Given the description of an element on the screen output the (x, y) to click on. 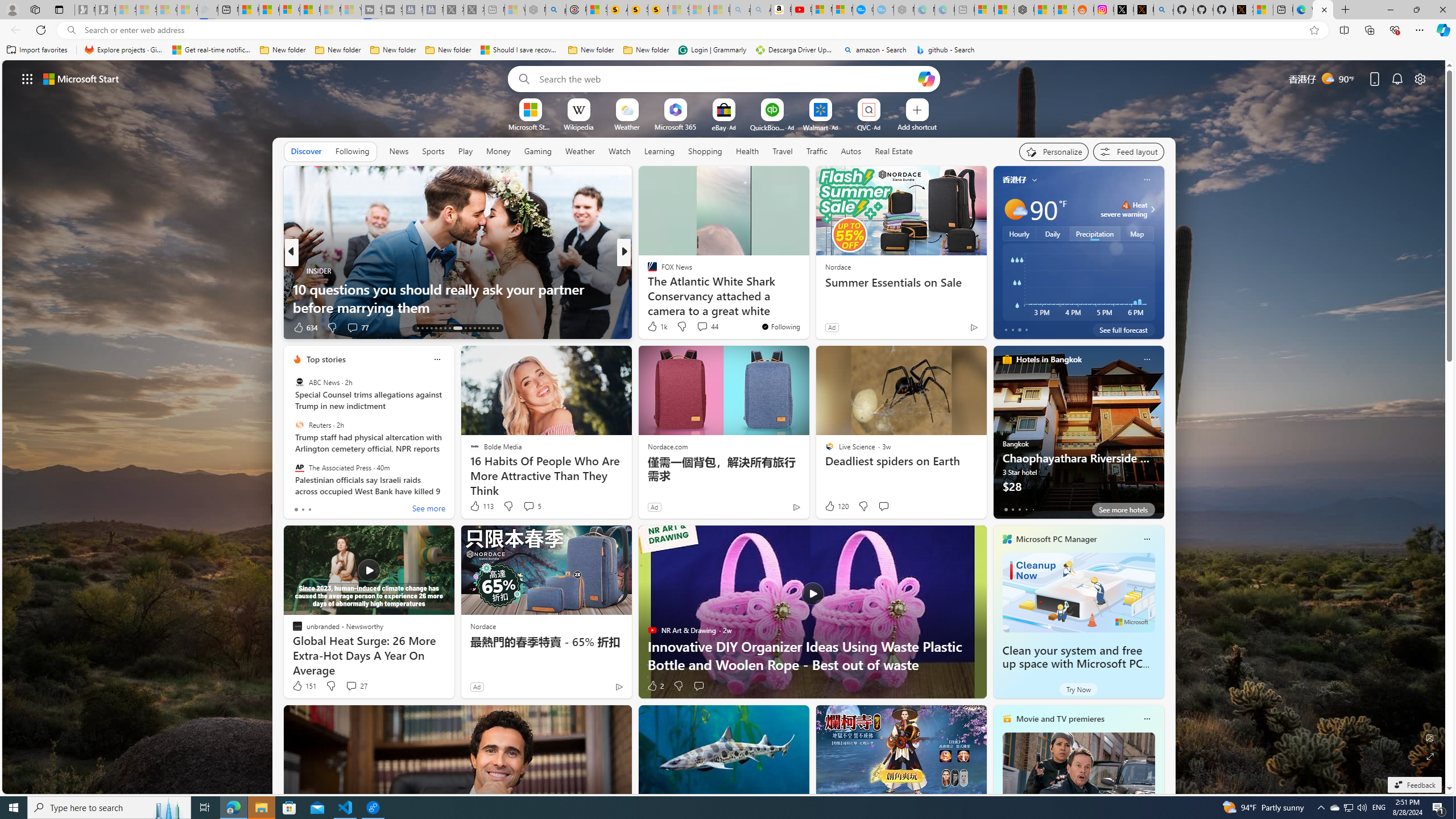
The Weather Channel (647, 270)
tab-1 (1012, 509)
Nordace - Duffels (1024, 9)
Map (1137, 233)
Real Estate (893, 151)
Michelle Starr, Senior Journalist at ScienceAlert (657, 9)
Amazon Echo Dot PNG - Search Images - Sleeping (760, 9)
634 Like (304, 327)
AutomationID: tab-23 (470, 328)
ABC News (299, 382)
